Given the description of an element on the screen output the (x, y) to click on. 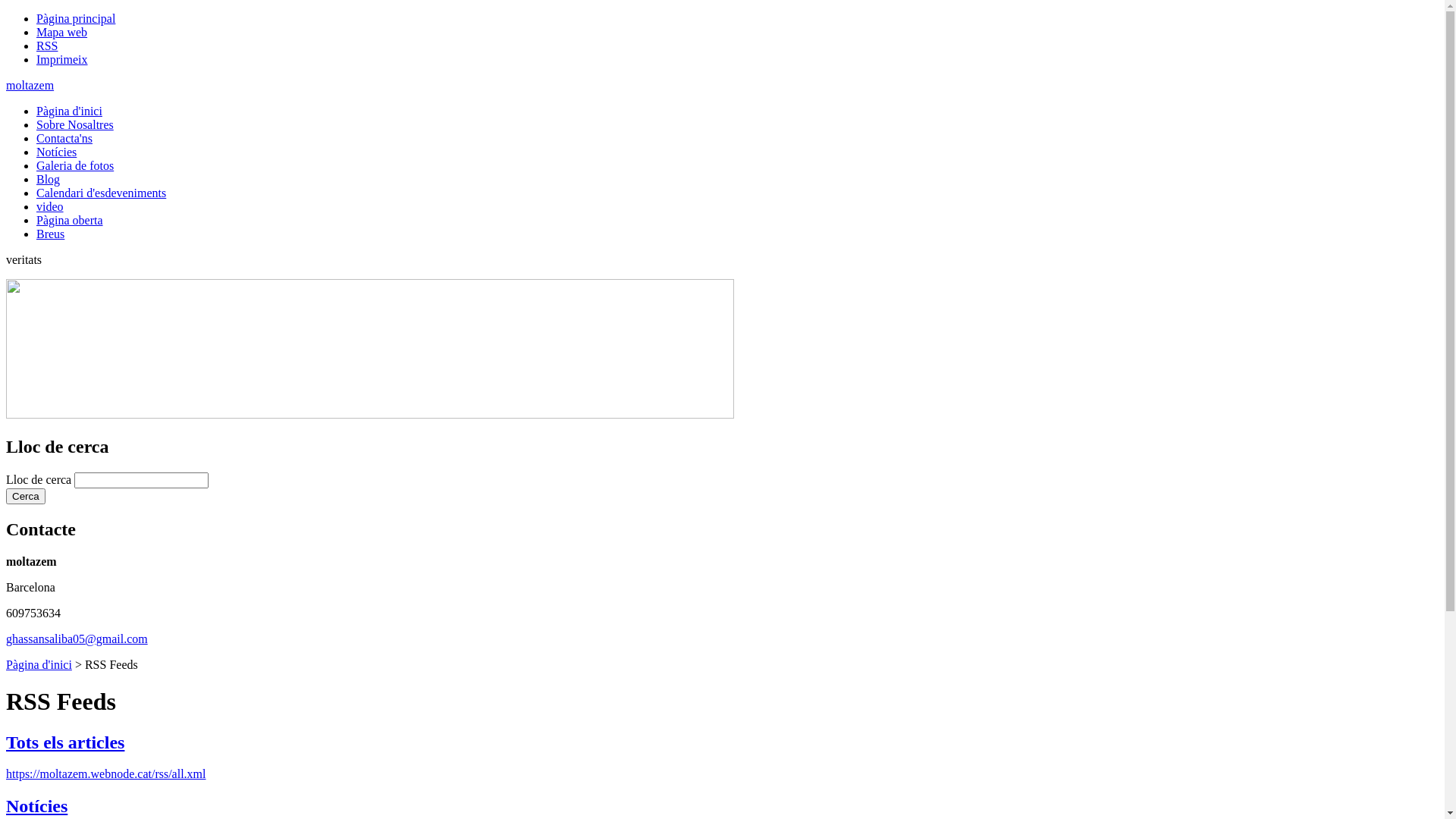
Sobre Nosaltres Element type: text (74, 124)
Calendari d'esdeveniments Element type: text (101, 192)
Tots els articles Element type: text (65, 742)
Imprimeix Element type: text (61, 59)
video Element type: text (49, 206)
Blog Element type: text (47, 178)
Cerca Element type: text (25, 496)
Galeria de fotos Element type: text (74, 165)
https://moltazem.webnode.cat/rss/all.xml Element type: text (106, 773)
Breus Element type: text (50, 233)
Contacta'ns Element type: text (64, 137)
RSS Element type: text (46, 45)
Mapa web Element type: text (61, 31)
ghassansaliba05@gmail.com Element type: text (76, 638)
moltazem Element type: text (29, 84)
